Given the description of an element on the screen output the (x, y) to click on. 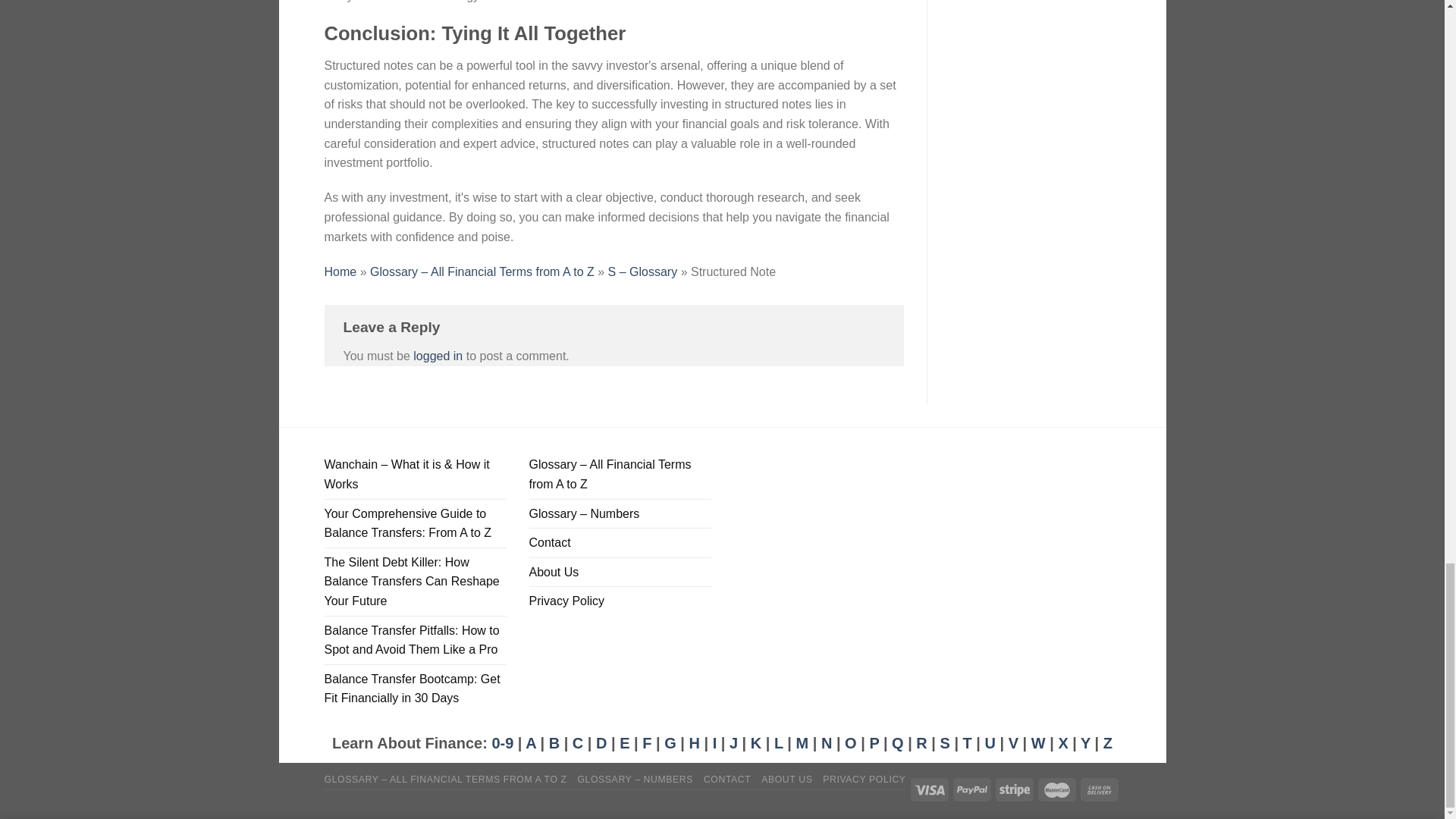
Financial Terms beginning with C (577, 742)
Financial Terms beginning with A (530, 742)
Home (340, 271)
Financial Terms beginning with D (601, 742)
Financial Terms beginning with B (553, 742)
